Given the description of an element on the screen output the (x, y) to click on. 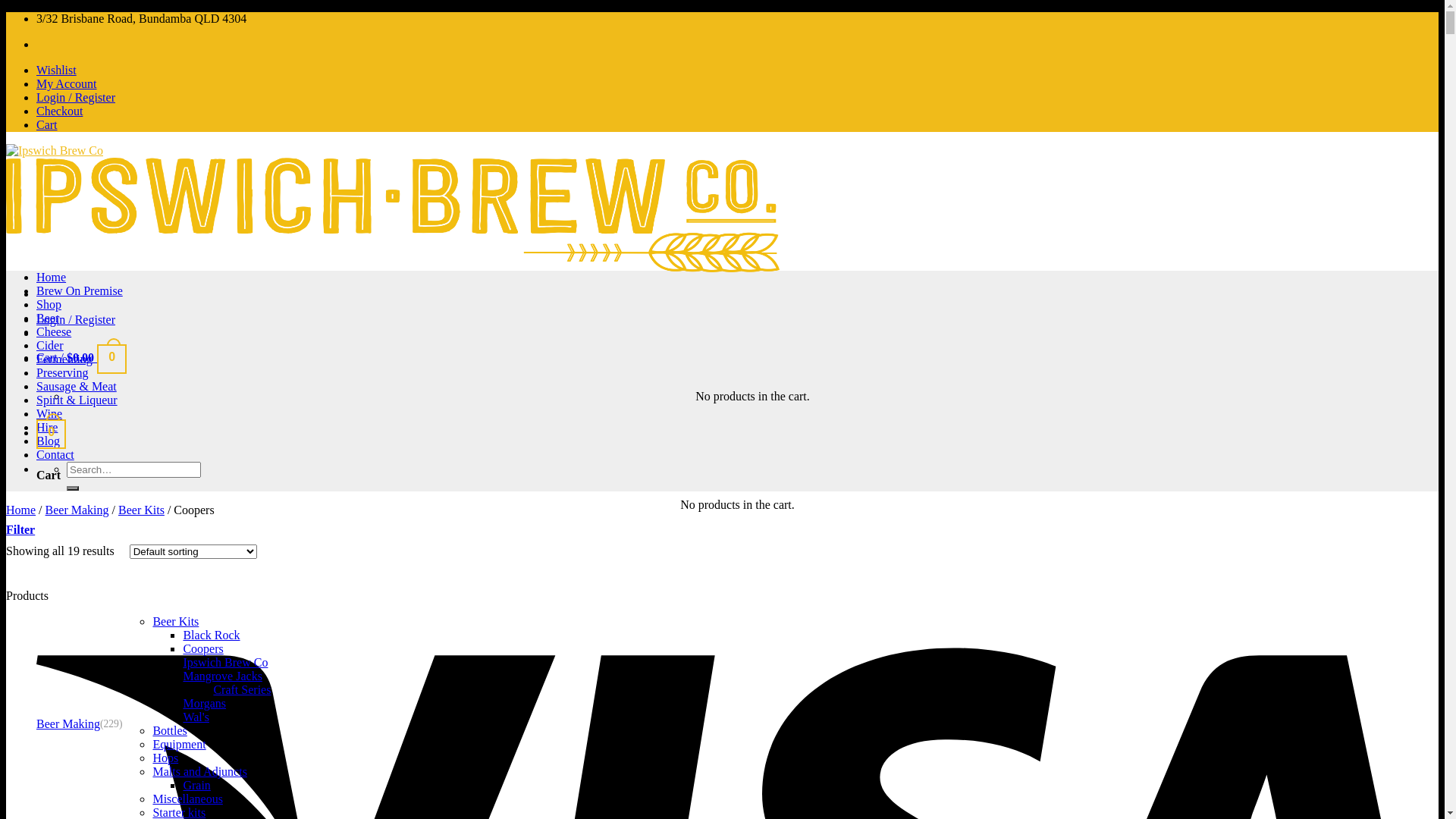
Blog Element type: text (47, 440)
My Account Element type: text (66, 83)
Beer Kits Element type: text (175, 621)
Ipswich Brew Co Element type: text (224, 661)
Fermenting Element type: text (64, 358)
Hops Element type: text (165, 757)
Hire Element type: text (46, 426)
Login / Register Element type: text (75, 97)
Wishlist Element type: text (56, 69)
Cider Element type: text (49, 344)
Equipment Element type: text (178, 743)
Wal's Element type: text (195, 716)
Cheese Element type: text (53, 331)
Bottles Element type: text (169, 730)
Morgans Element type: text (203, 702)
Miscellaneous Element type: text (187, 798)
Sausage & Meat Element type: text (76, 385)
Home Element type: text (20, 509)
Shop Element type: text (48, 304)
Filter Element type: text (20, 529)
Beer Making Element type: text (77, 509)
Cart / $0.00 0 Element type: text (81, 357)
Contact Element type: text (55, 454)
Grain Element type: text (196, 784)
Brew On Premise Element type: text (79, 290)
0 Element type: text (50, 432)
Black Rock Element type: text (210, 634)
Beer Making Element type: text (68, 724)
Search Element type: text (72, 488)
Spirit & Liqueur Element type: text (76, 399)
Craft Series Element type: text (241, 689)
Preserving Element type: text (61, 372)
Malts and Adjuncts Element type: text (199, 771)
Wine Element type: text (49, 413)
Mangrove Jacks Element type: text (221, 675)
Checkout Element type: text (59, 110)
Coopers Element type: text (202, 648)
Beer Element type: text (47, 317)
Login / Register Element type: text (75, 319)
Cart Element type: text (46, 124)
Beer Kits Element type: text (141, 509)
Home Element type: text (50, 276)
Skip to content Element type: text (5, 11)
